Given the description of an element on the screen output the (x, y) to click on. 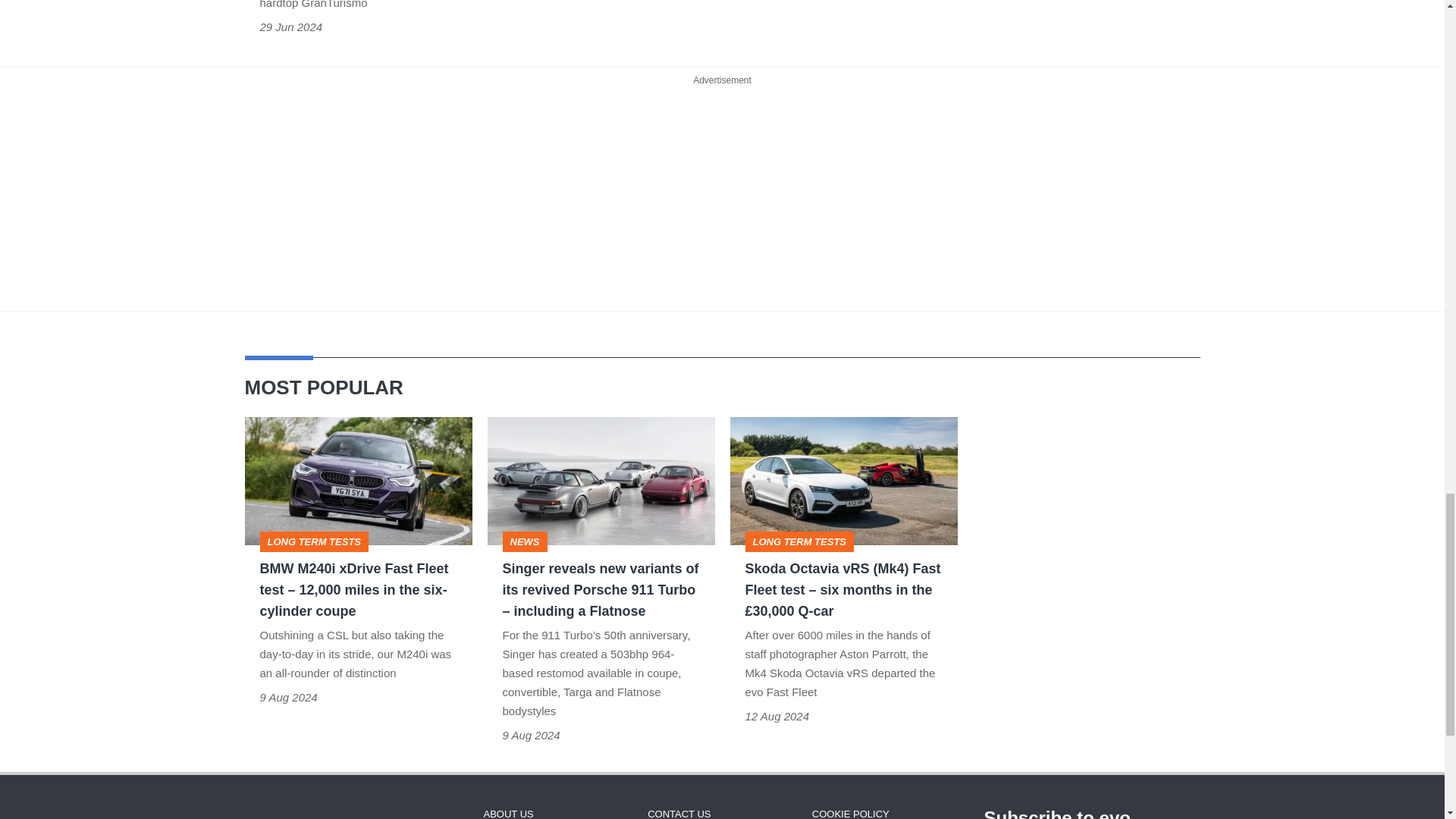
COOKIE POLICY (850, 814)
ABOUT US (508, 814)
CONTACT US (678, 814)
